Given the description of an element on the screen output the (x, y) to click on. 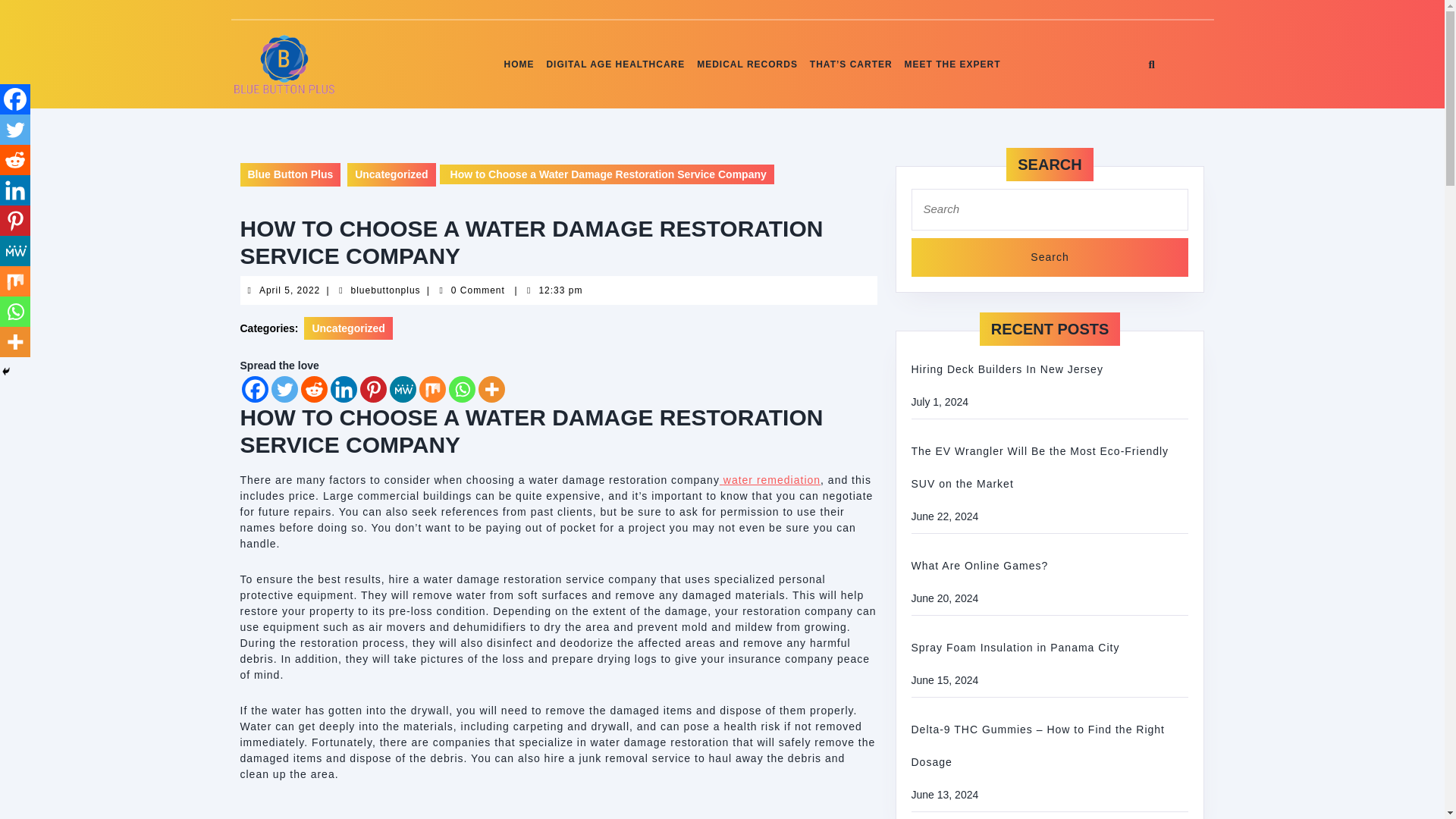
HOME (518, 64)
Facebook (15, 99)
Facebook (254, 388)
water remediation (770, 480)
Uncategorized (347, 327)
MeWe (15, 250)
Reddit (15, 159)
Pinterest (372, 388)
MEDICAL RECORDS (747, 64)
Pinterest (15, 220)
Uncategorized (391, 174)
More (385, 290)
DIGITAL AGE HEALTHCARE (490, 388)
MeWe (614, 64)
